Given the description of an element on the screen output the (x, y) to click on. 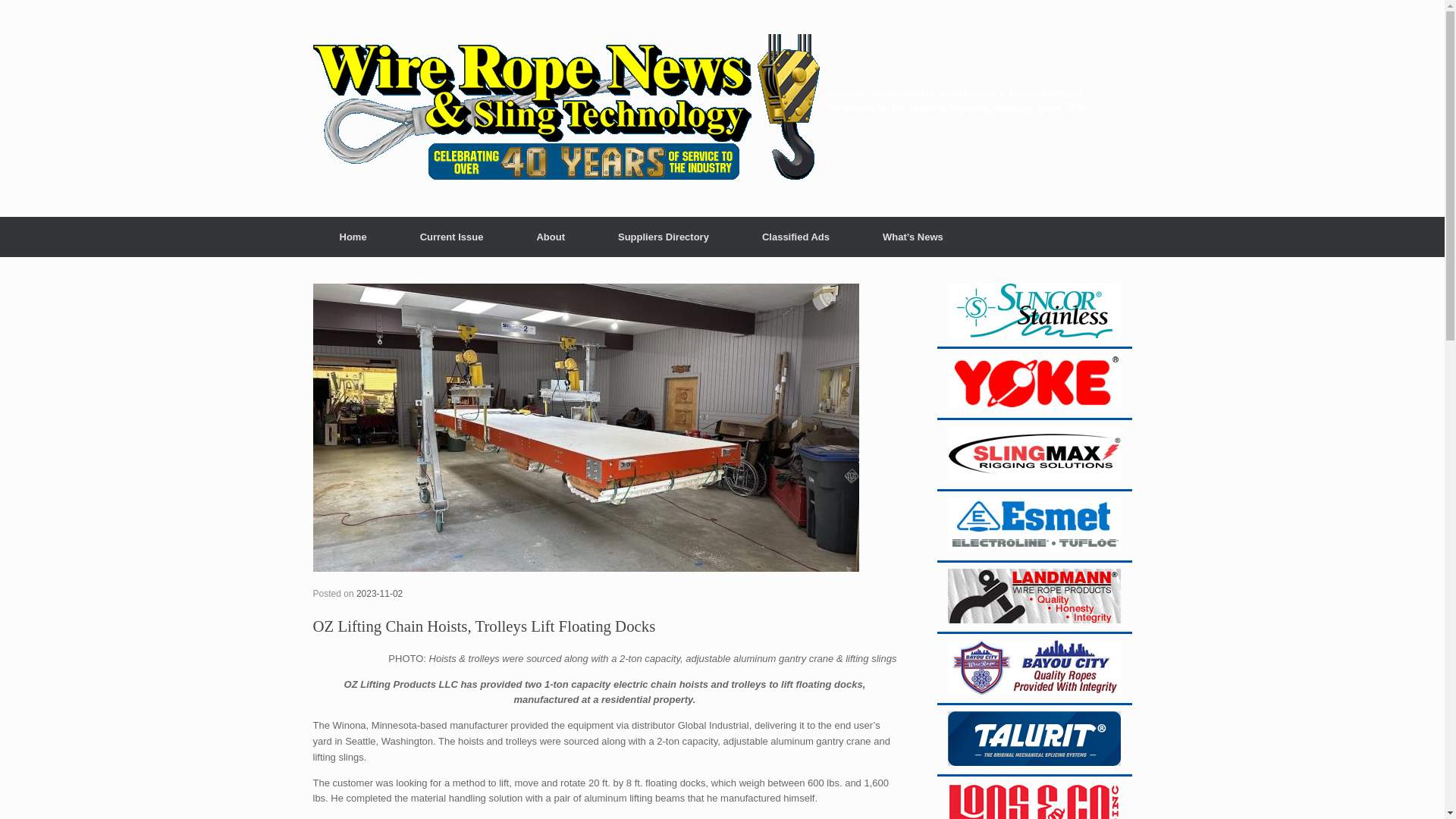
wireropenews (570, 108)
10:01 am (379, 593)
Classified Ads (795, 237)
Home (353, 237)
Current Issue (452, 237)
About (550, 237)
2023-11-02 (379, 593)
Suppliers Directory (663, 237)
